Given the description of an element on the screen output the (x, y) to click on. 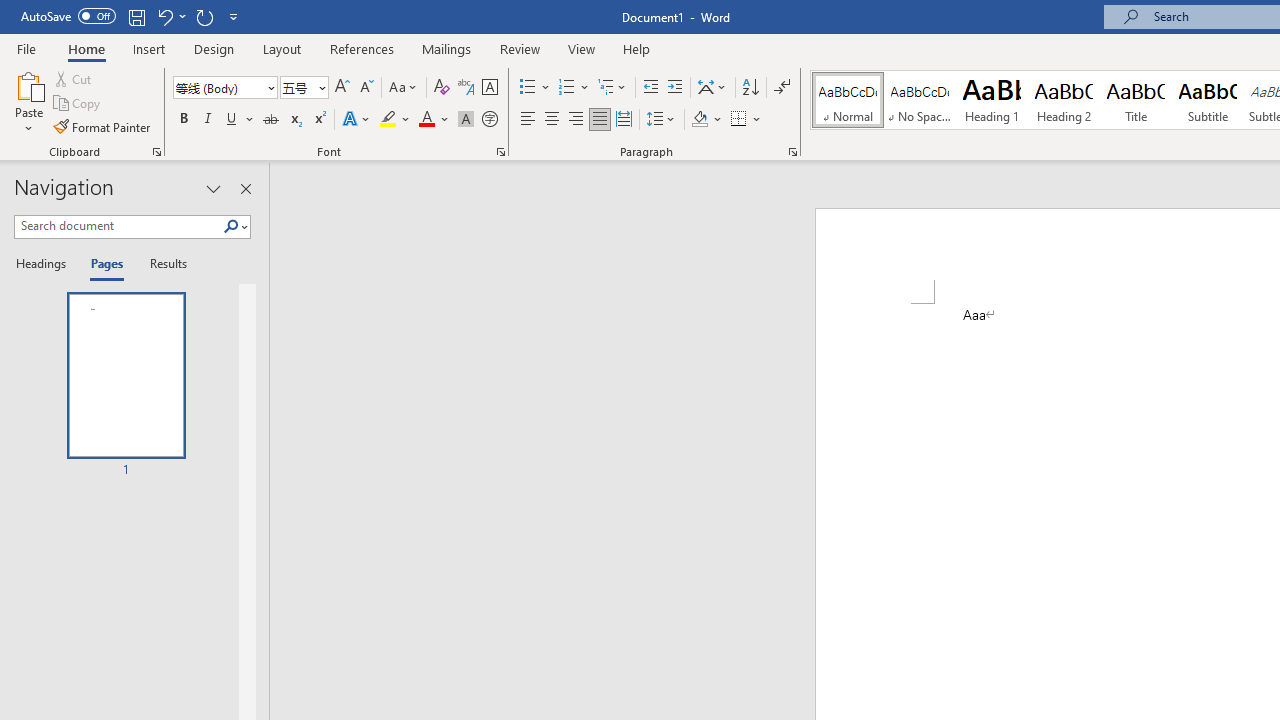
Repeat Increase Indent (204, 15)
